Given the description of an element on the screen output the (x, y) to click on. 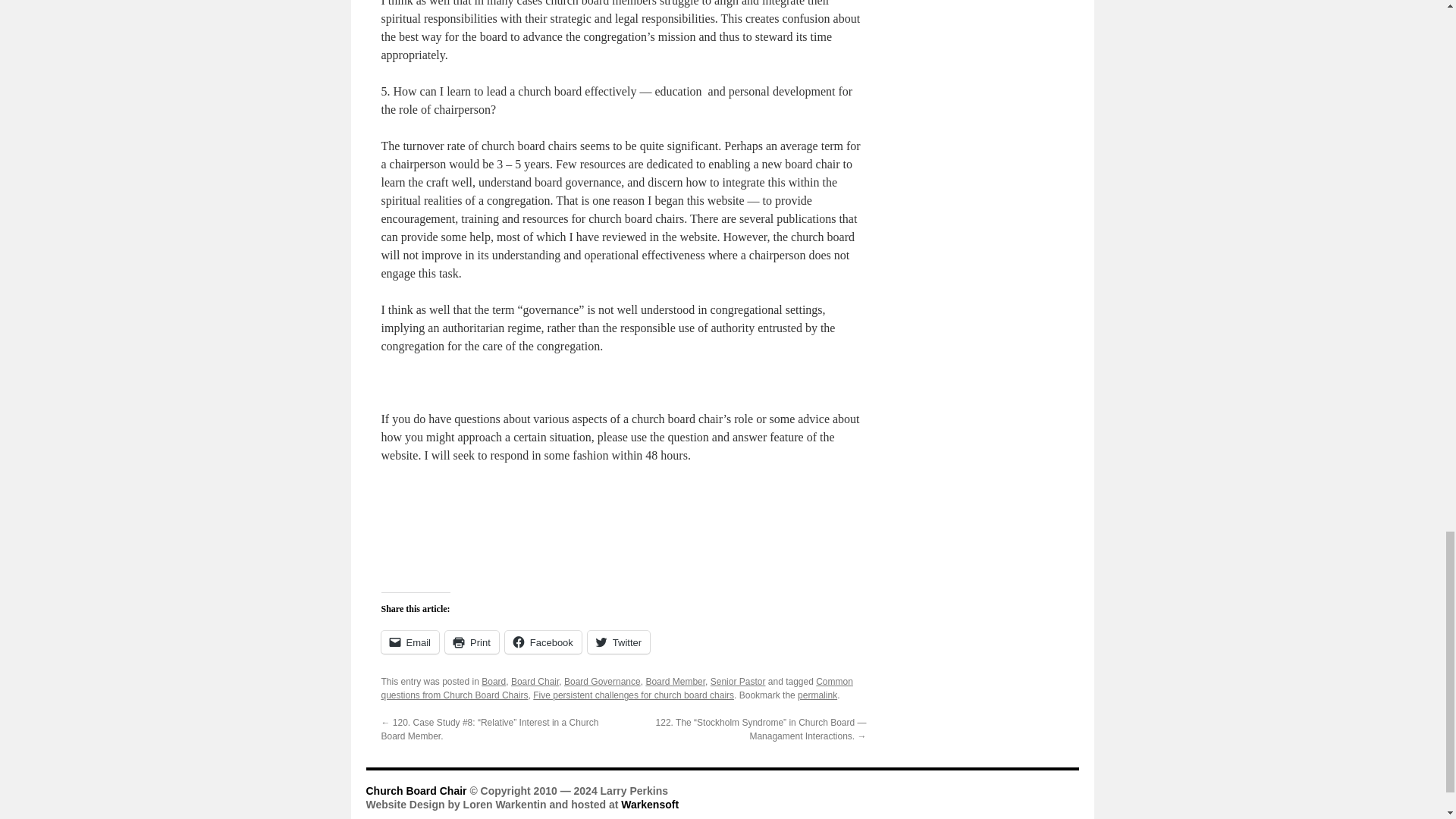
Board Member (674, 681)
Senior Pastor (737, 681)
Click to print (472, 641)
Click to email a link to a friend (409, 641)
Board (493, 681)
Print (472, 641)
Church Board Chair (416, 790)
Email (409, 641)
Twitter (618, 641)
permalink (817, 695)
Board Chair (535, 681)
Common questions from Church Board Chairs (615, 688)
Five persistent challenges for church board chairs (632, 695)
Click to share on Facebook (542, 641)
